Given the description of an element on the screen output the (x, y) to click on. 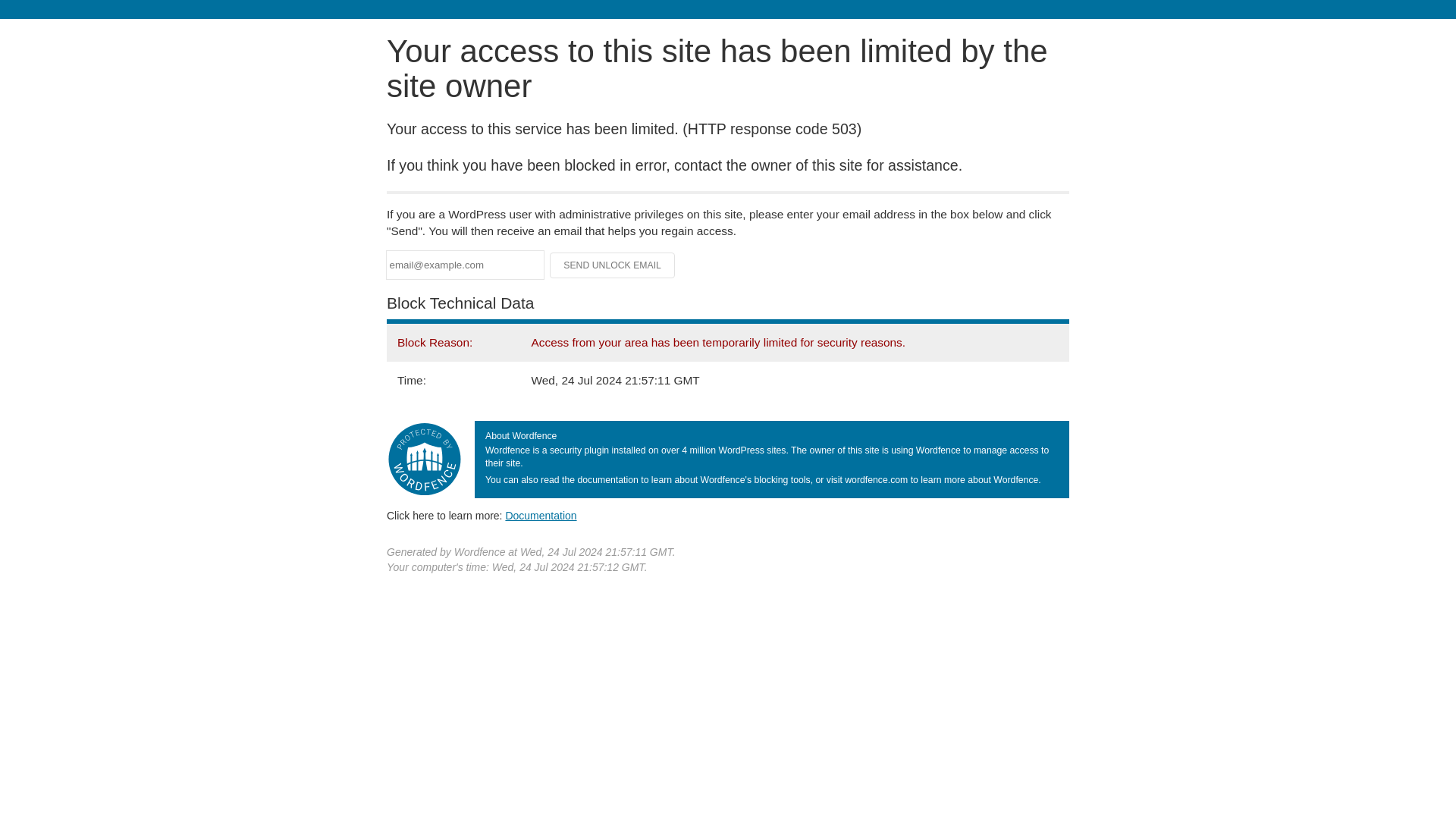
Send Unlock Email (612, 265)
Send Unlock Email (612, 265)
Documentation (540, 515)
